Given the description of an element on the screen output the (x, y) to click on. 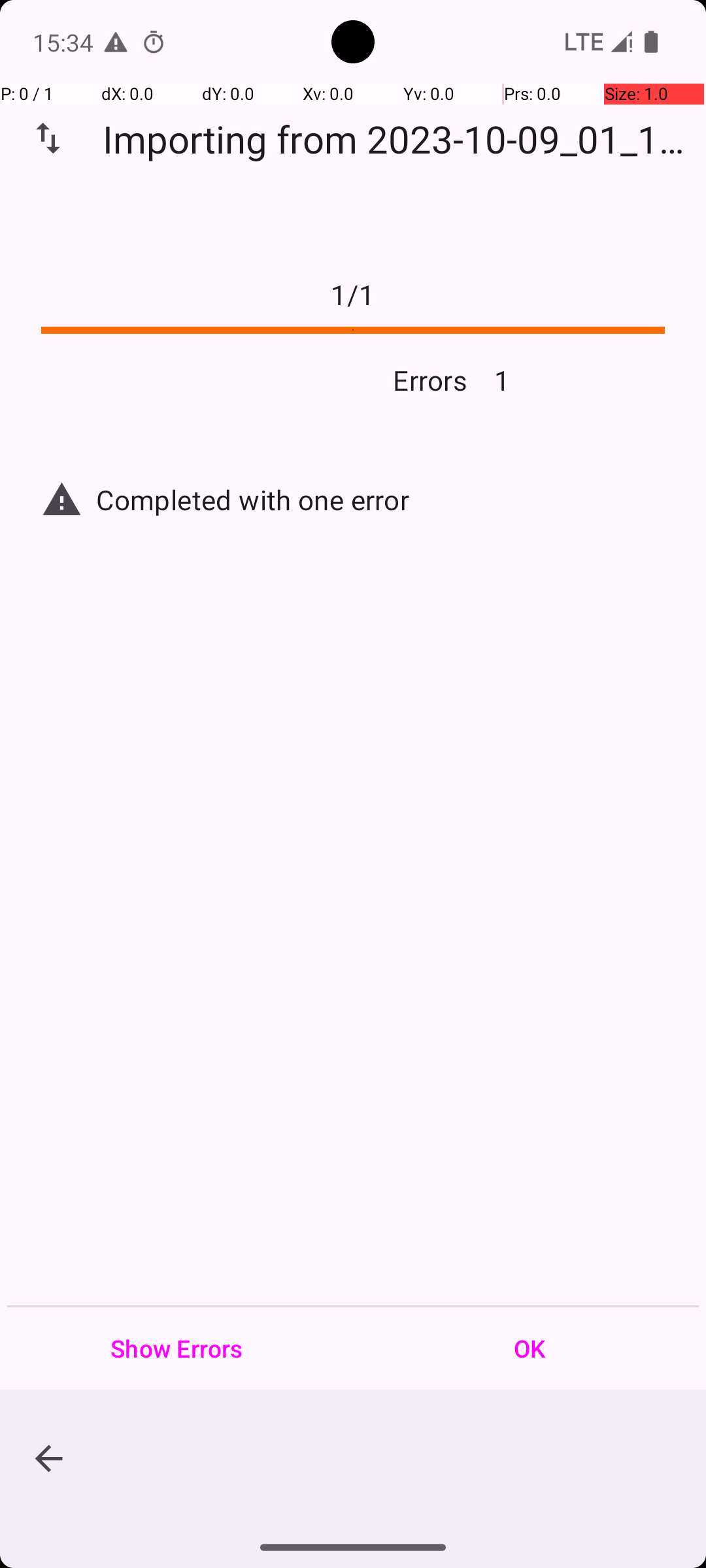
Importing from 2023-10-09_01_13_Mountain Bike Expedition.kmz… Element type: android.widget.TextView (400, 138)
Show Errors Element type: android.widget.Button (176, 1348)
/ Element type: android.widget.TextView (352, 293)
Errors Element type: android.widget.TextView (246, 379)
Completed with one error Element type: android.widget.TextView (380, 499)
